Given the description of an element on the screen output the (x, y) to click on. 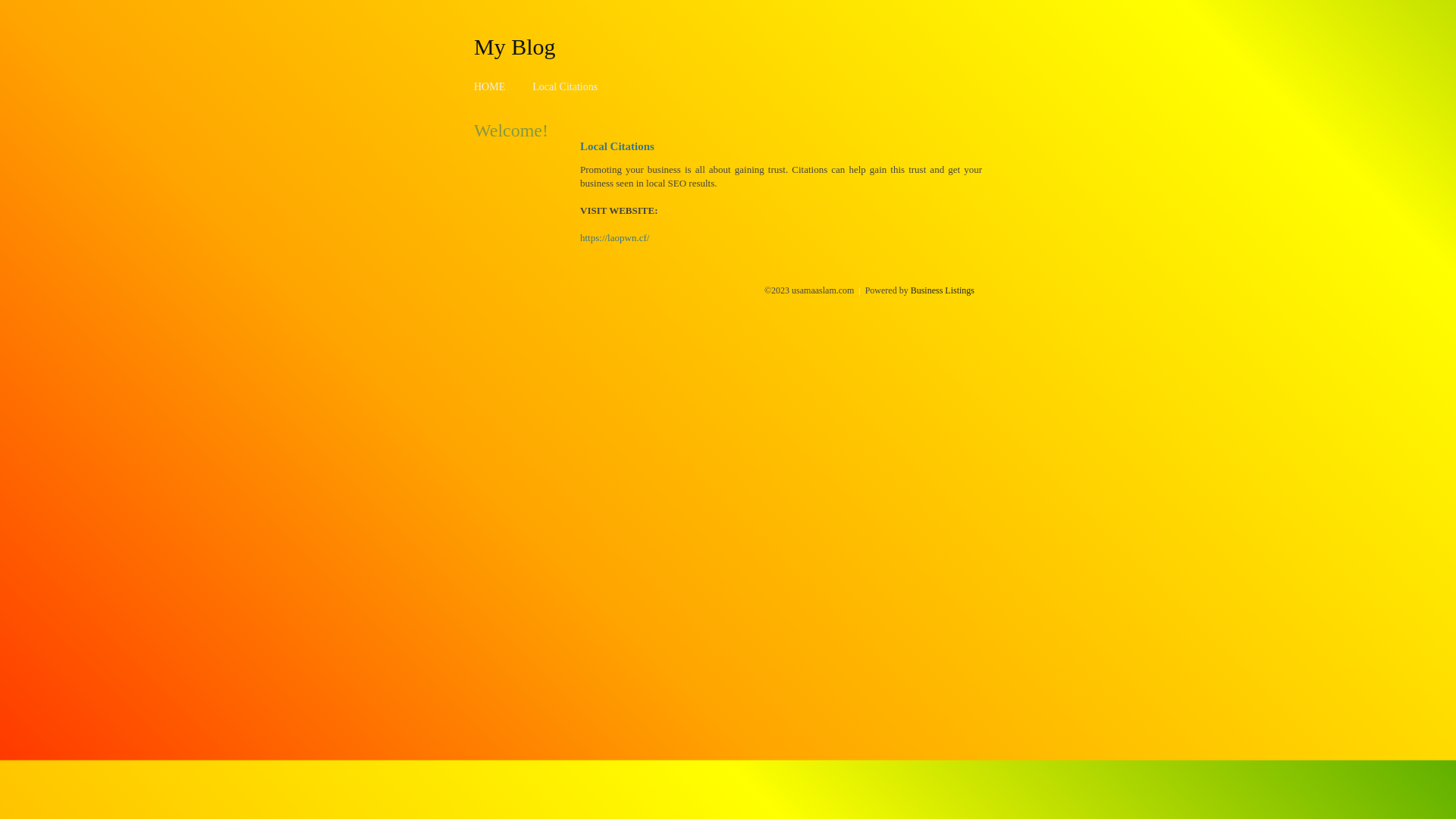
Local Citations Element type: text (564, 86)
https://laopwn.cf/ Element type: text (614, 237)
HOME Element type: text (489, 86)
My Blog Element type: text (514, 46)
Business Listings Element type: text (942, 290)
